Given the description of an element on the screen output the (x, y) to click on. 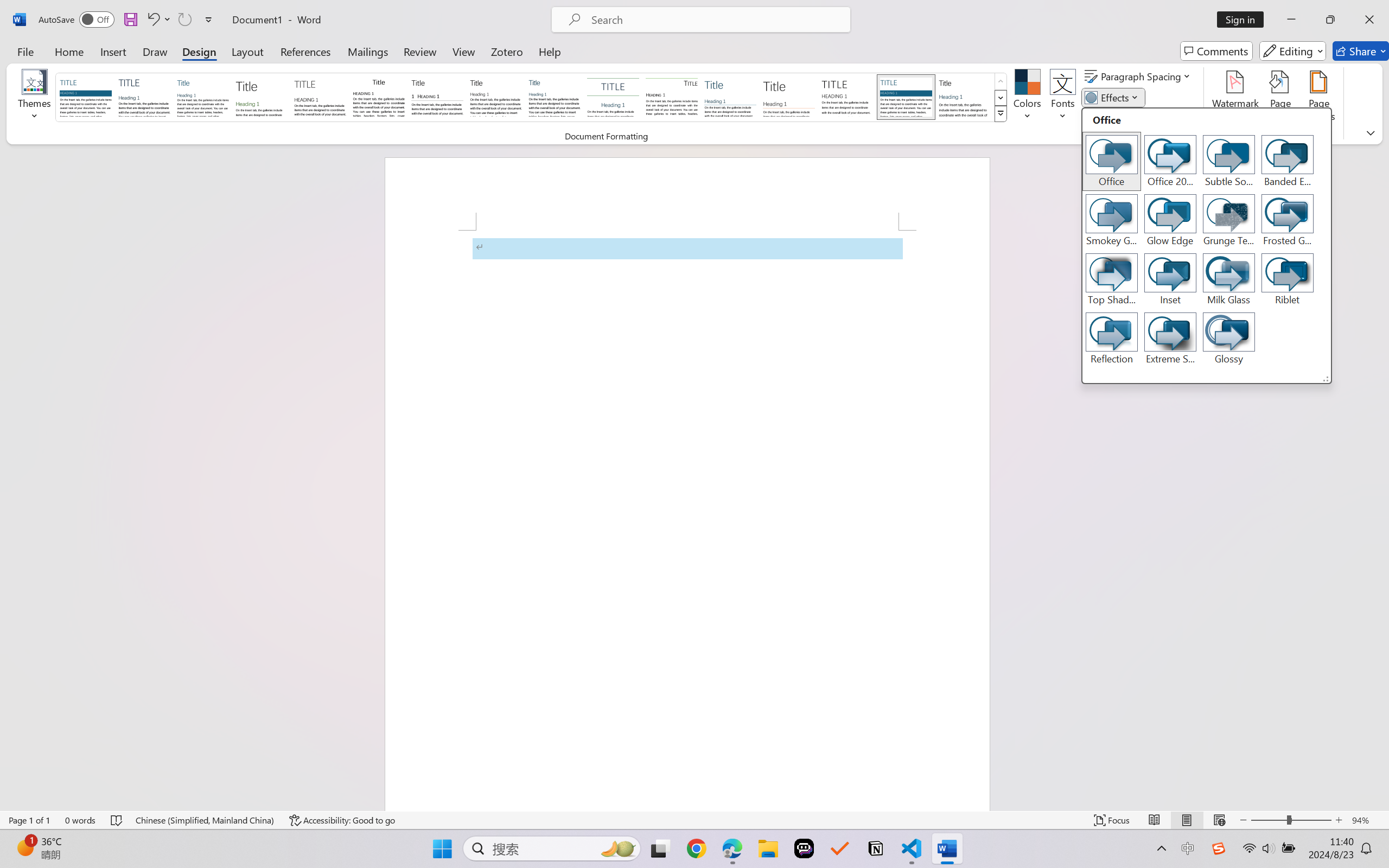
Google Chrome (696, 848)
Lines (Distinctive) (671, 96)
Black & White (Capitalized) (320, 96)
